Given the description of an element on the screen output the (x, y) to click on. 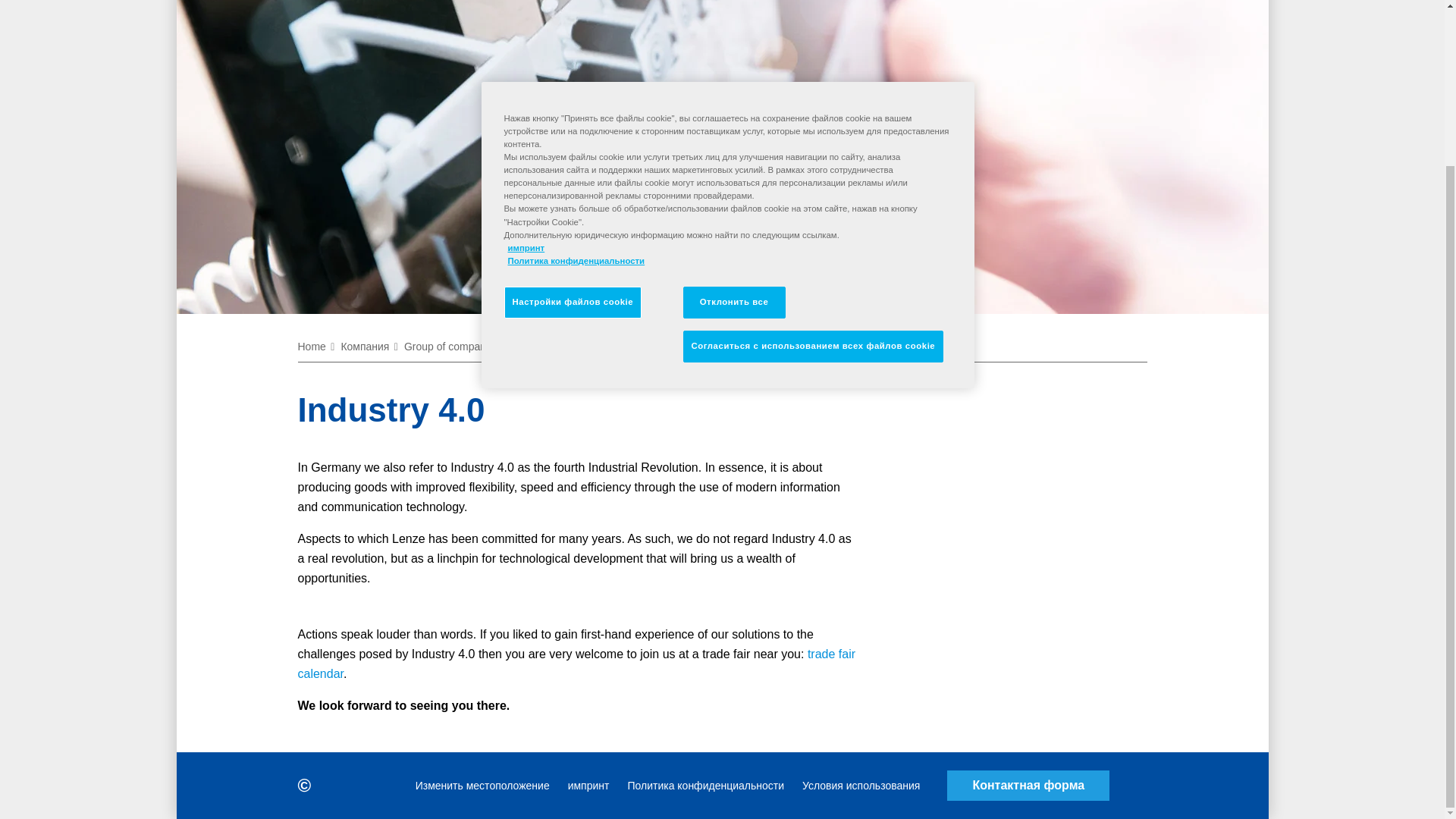
trade fair calendar (576, 663)
